Given the description of an element on the screen output the (x, y) to click on. 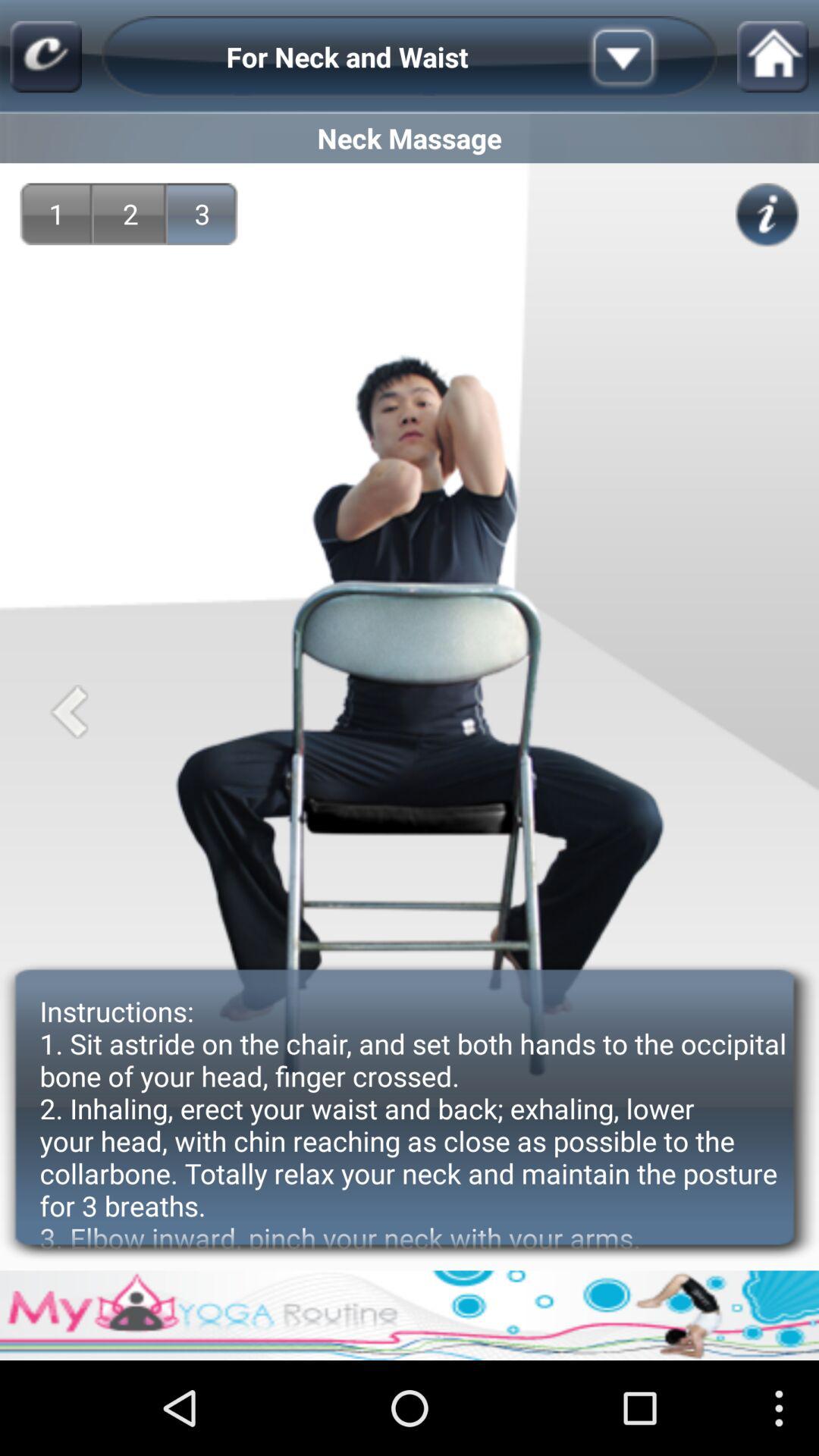
flip until the 3 app (202, 214)
